Given the description of an element on the screen output the (x, y) to click on. 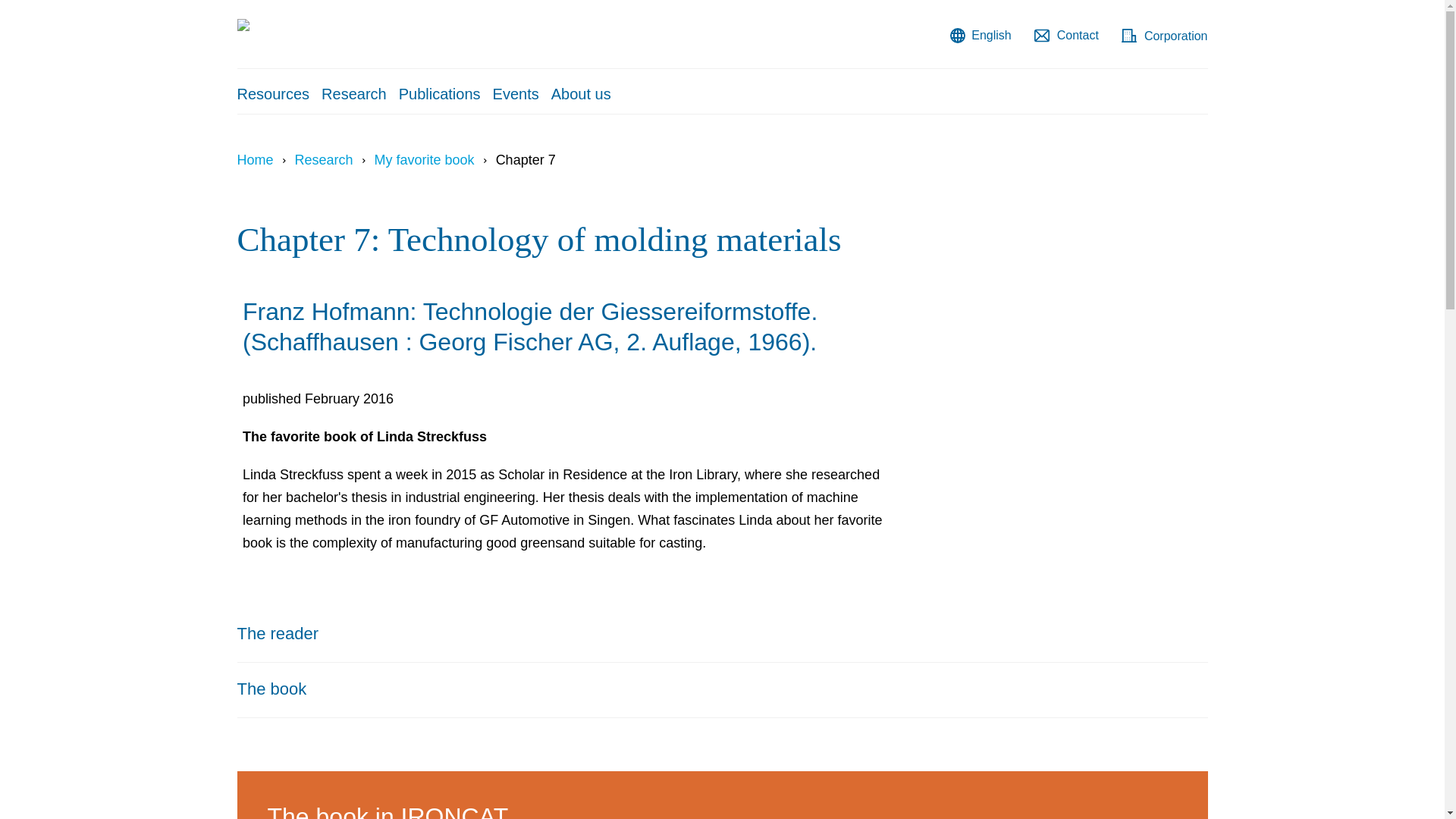
Corporation (1164, 35)
Resources (272, 93)
Contact (1066, 35)
Resources (272, 93)
English (980, 35)
